Given the description of an element on the screen output the (x, y) to click on. 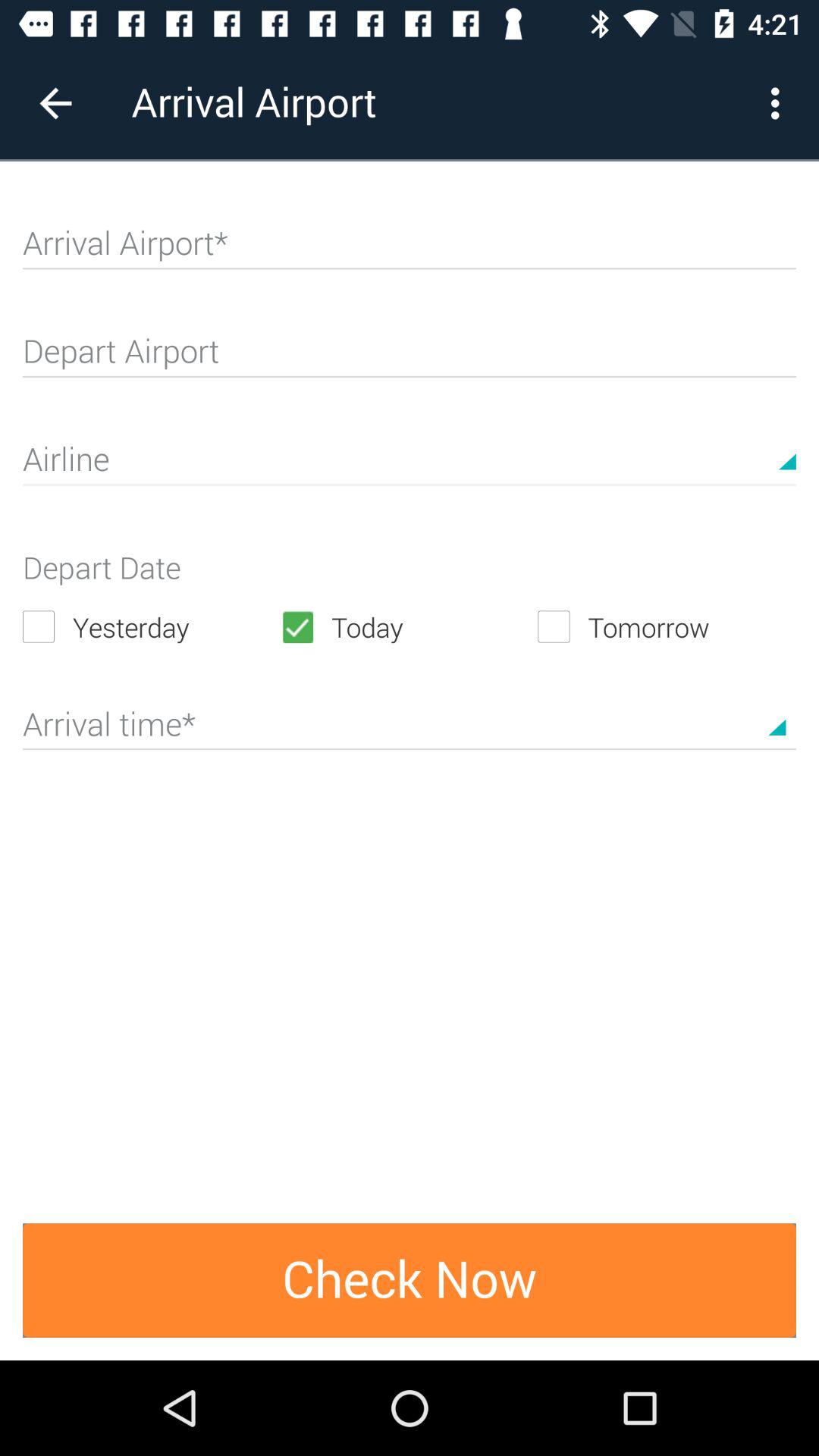
choose item to the right of the arrival airport (779, 103)
